Given the description of an element on the screen output the (x, y) to click on. 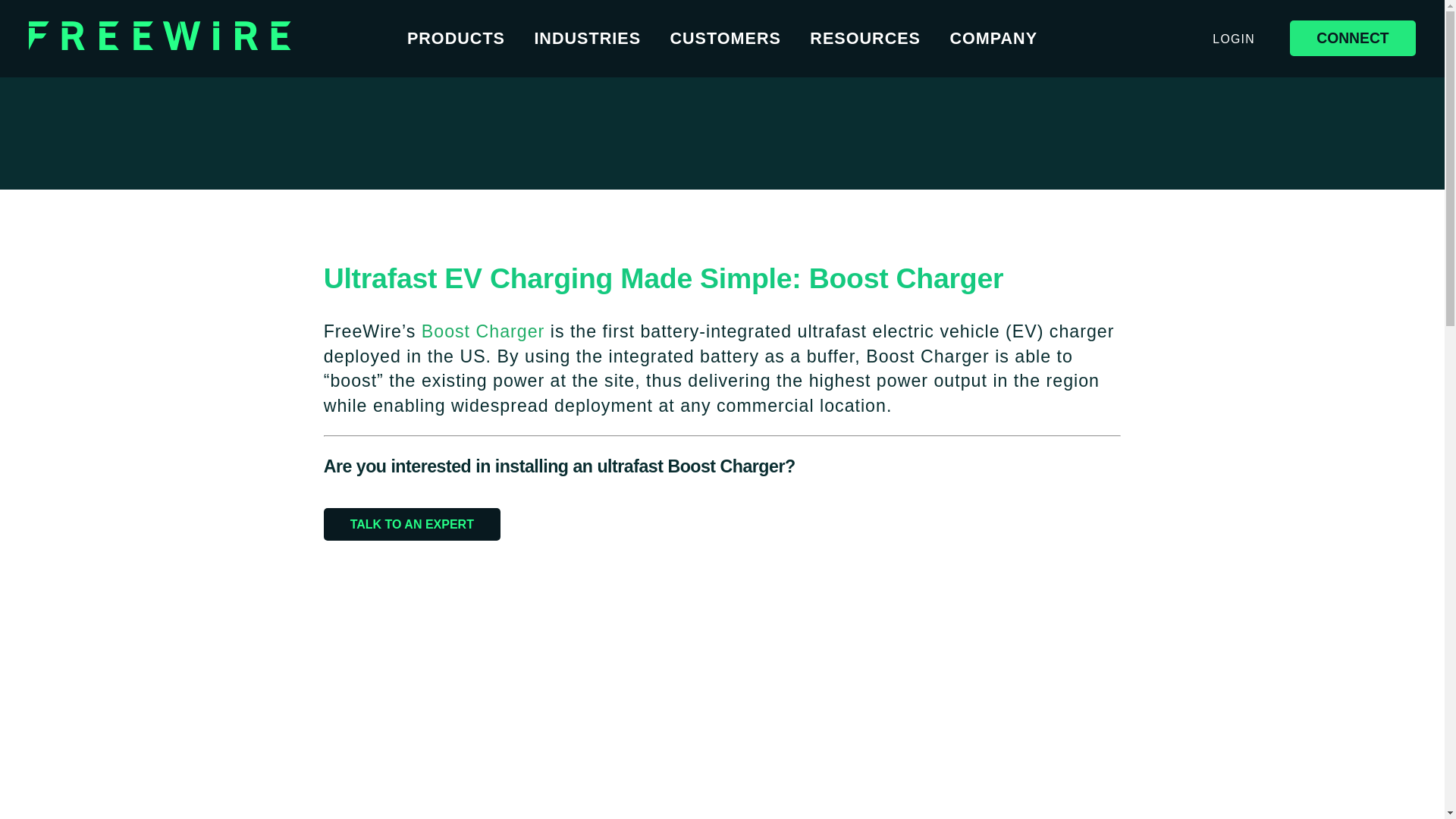
RESOURCES (864, 38)
INDUSTRIES (587, 38)
COMPANY (992, 38)
PRODUCTS (456, 38)
CUSTOMERS (724, 38)
